Given the description of an element on the screen output the (x, y) to click on. 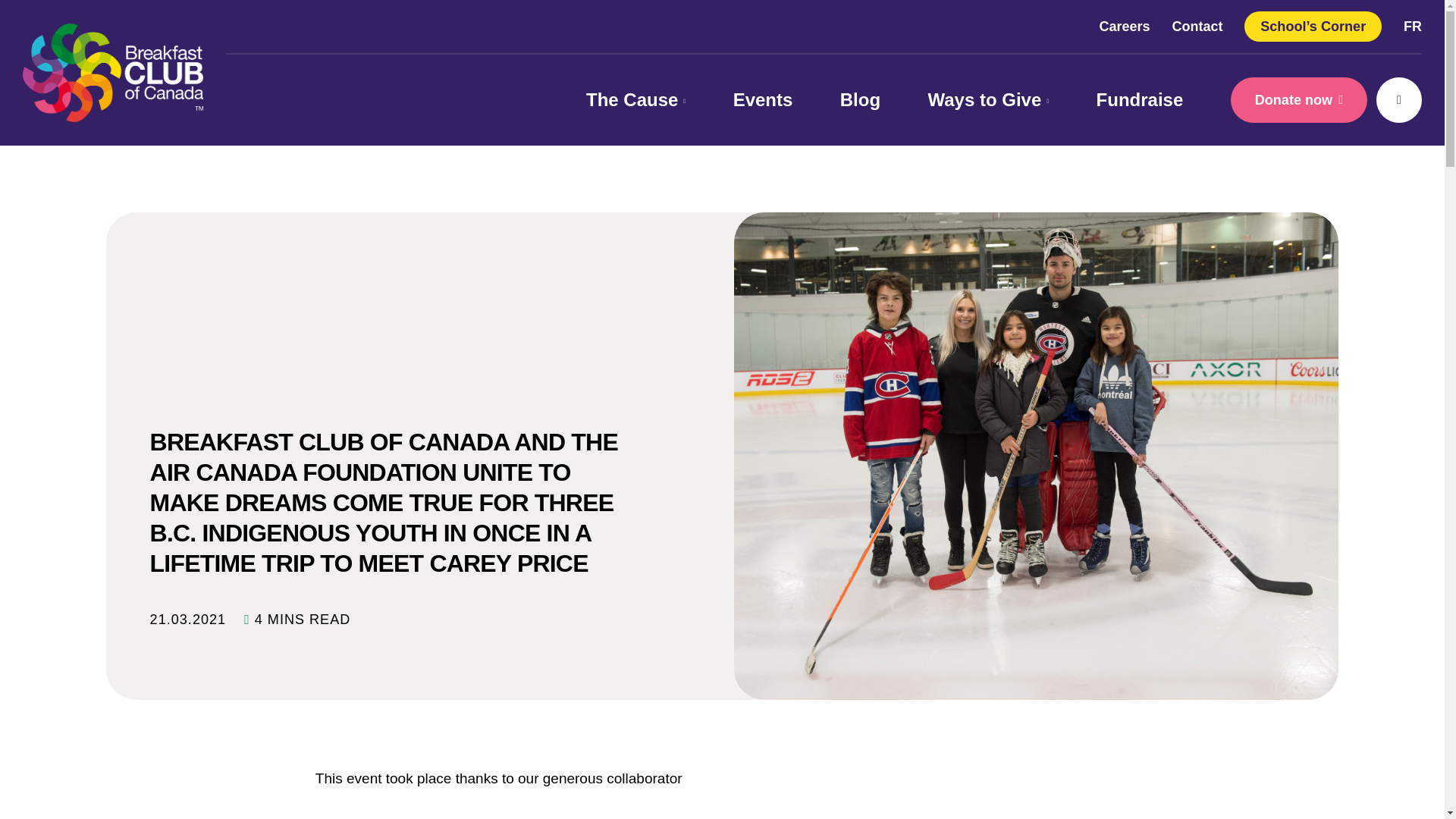
Careers (1124, 26)
Contact (1197, 26)
Donate now (1298, 99)
Open menu (1398, 99)
Fundraise (1139, 99)
The Cause (635, 99)
Events (763, 99)
Ways to Give (987, 99)
Back to home page (113, 72)
Blog (860, 99)
